Given the description of an element on the screen output the (x, y) to click on. 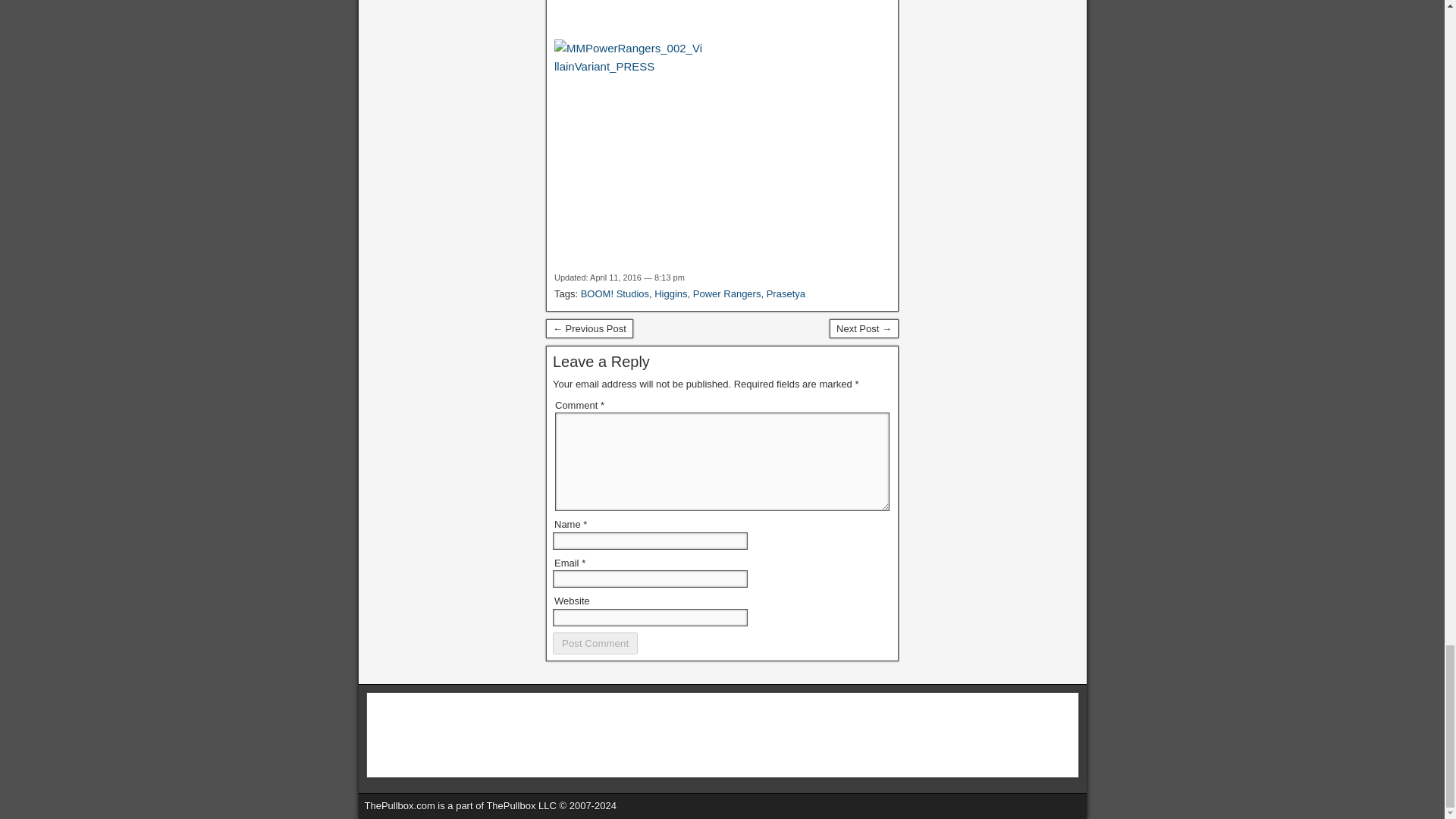
Power Rangers (727, 293)
BOOM! Studios (614, 293)
Prasetya (786, 293)
Post Comment (595, 643)
Post Comment (595, 643)
Pullbox Previews: Love: The Lion (863, 329)
Higgins (670, 293)
